Given the description of an element on the screen output the (x, y) to click on. 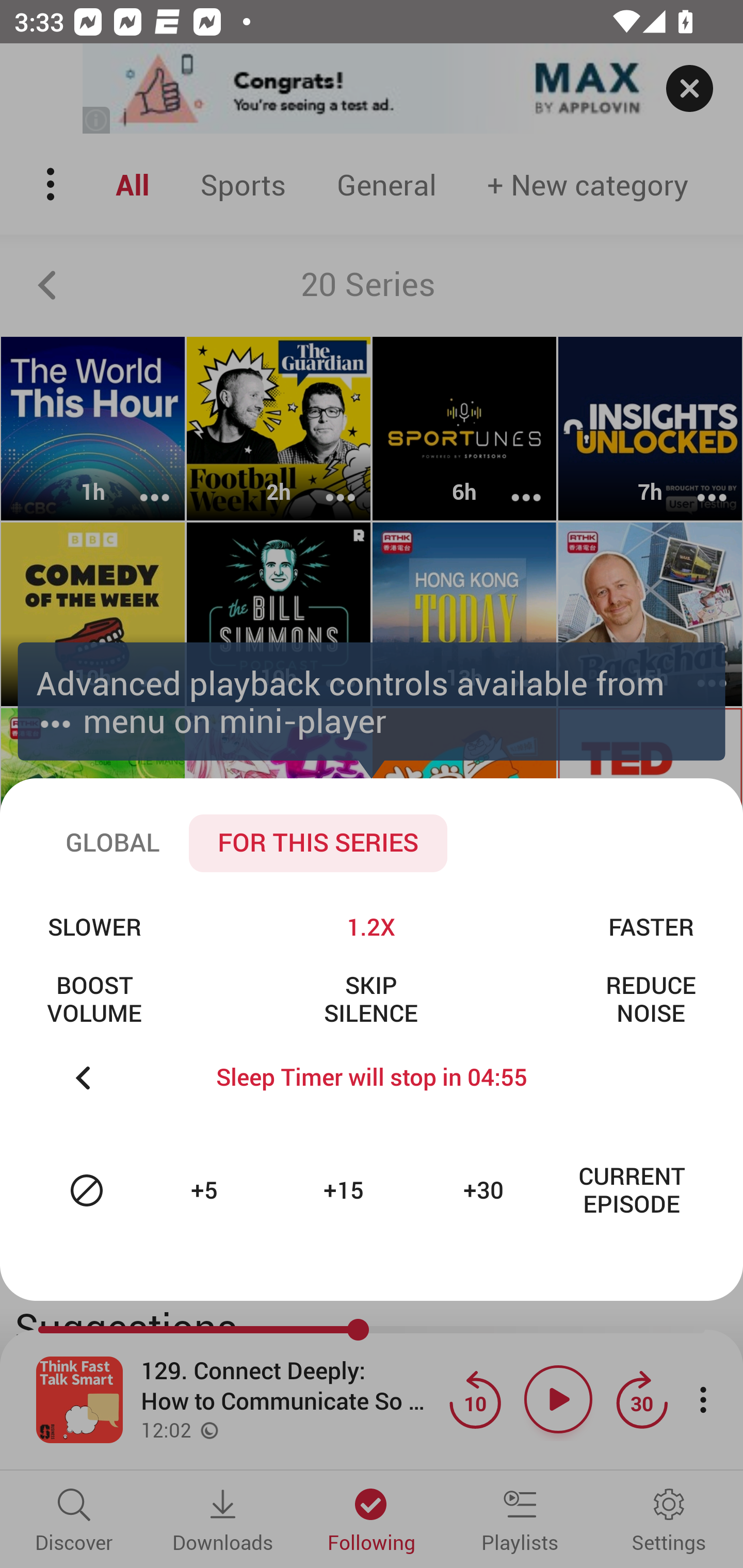
GLOBAL (112, 842)
FOR THIS SERIES (317, 842)
SLOWER (94, 926)
1.2X (370, 926)
FASTER (650, 926)
BOOST
VOLUME (94, 998)
SKIP
SILENCE (370, 998)
REDUCE
NOISE (650, 998)
Reset (86, 1190)
+5  (206, 1190)
+15  (346, 1190)
+30  (486, 1190)
CURRENT
EPISODE (631, 1190)
